Given the description of an element on the screen output the (x, y) to click on. 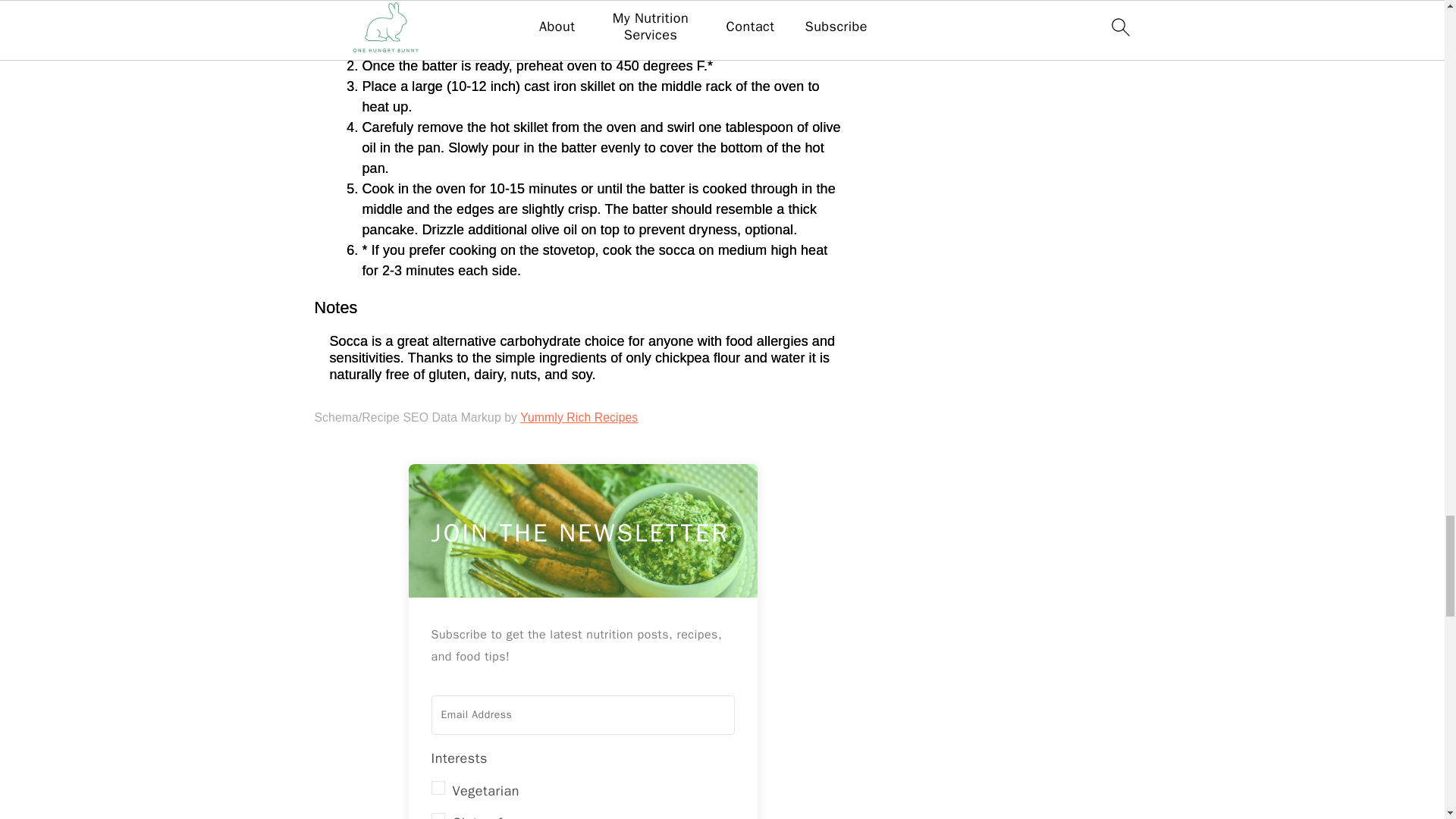
Yummly Rich Recipes (578, 417)
Yummly Rich Recipes (578, 417)
